Given the description of an element on the screen output the (x, y) to click on. 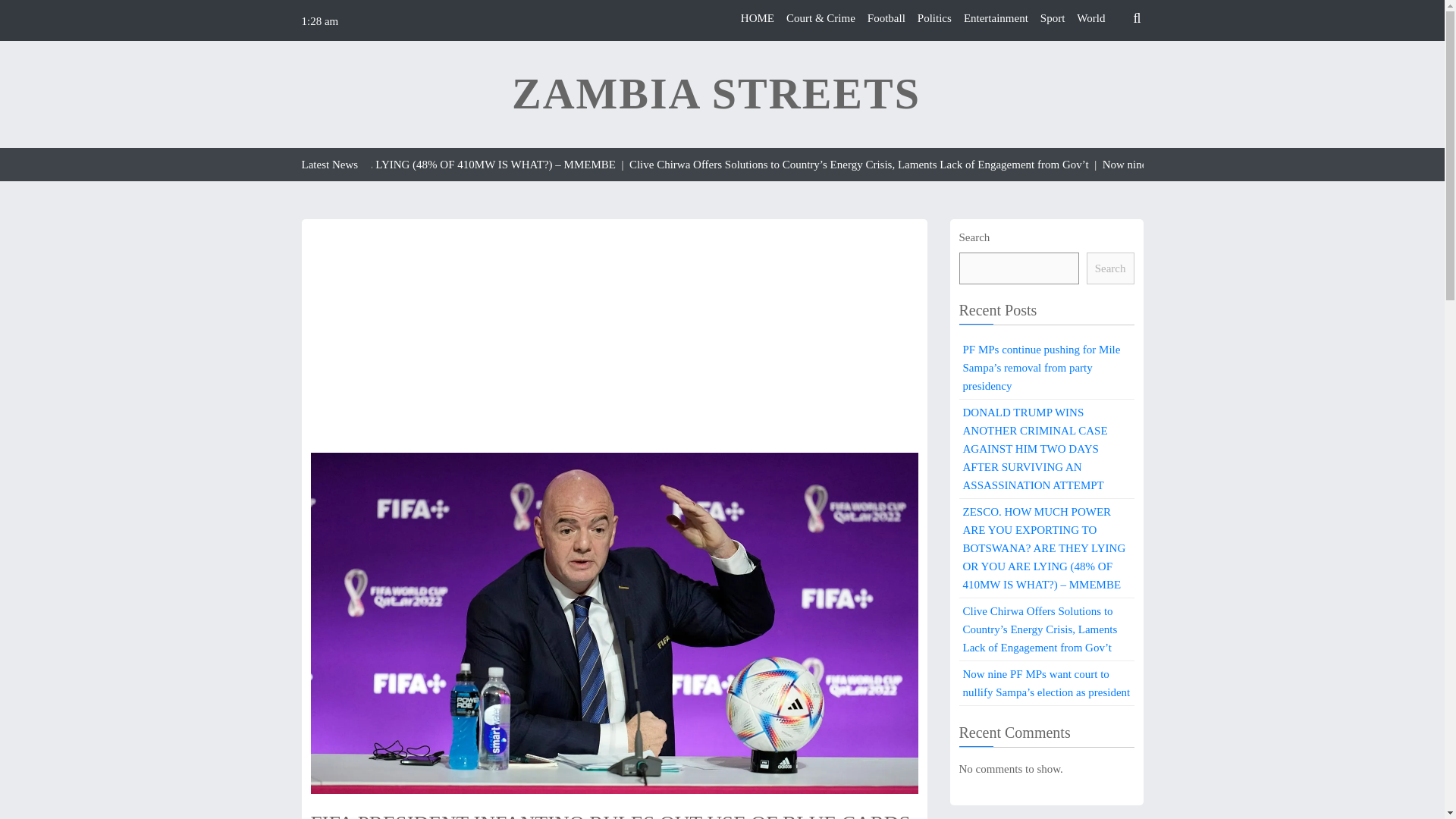
Search (1109, 54)
World (1090, 18)
Advertisement (614, 340)
Politics (934, 18)
HOME (757, 18)
Football (886, 18)
ZAMBIA STREETS (716, 93)
Entertainment (995, 18)
Sport (1052, 18)
Search (1110, 268)
